Given the description of an element on the screen output the (x, y) to click on. 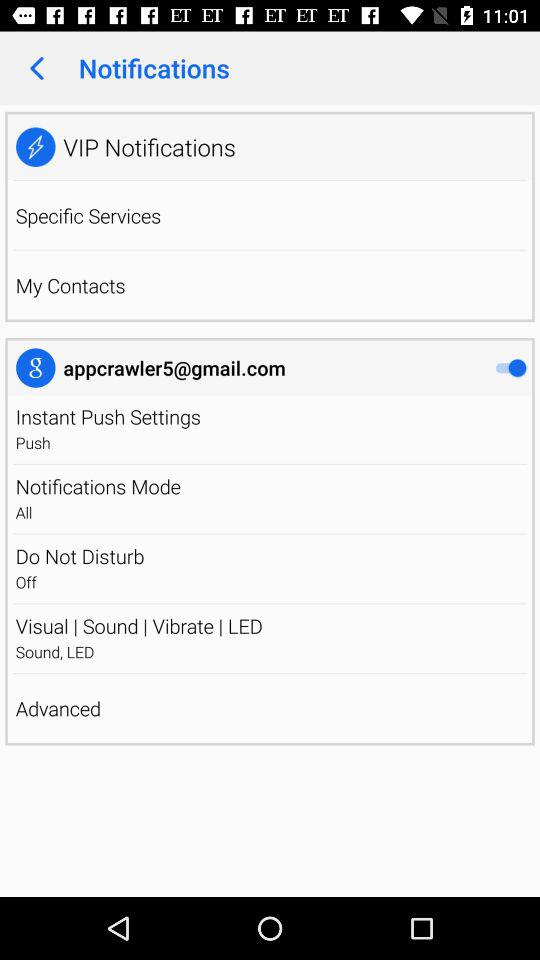
flip until notifications mode item (97, 486)
